Given the description of an element on the screen output the (x, y) to click on. 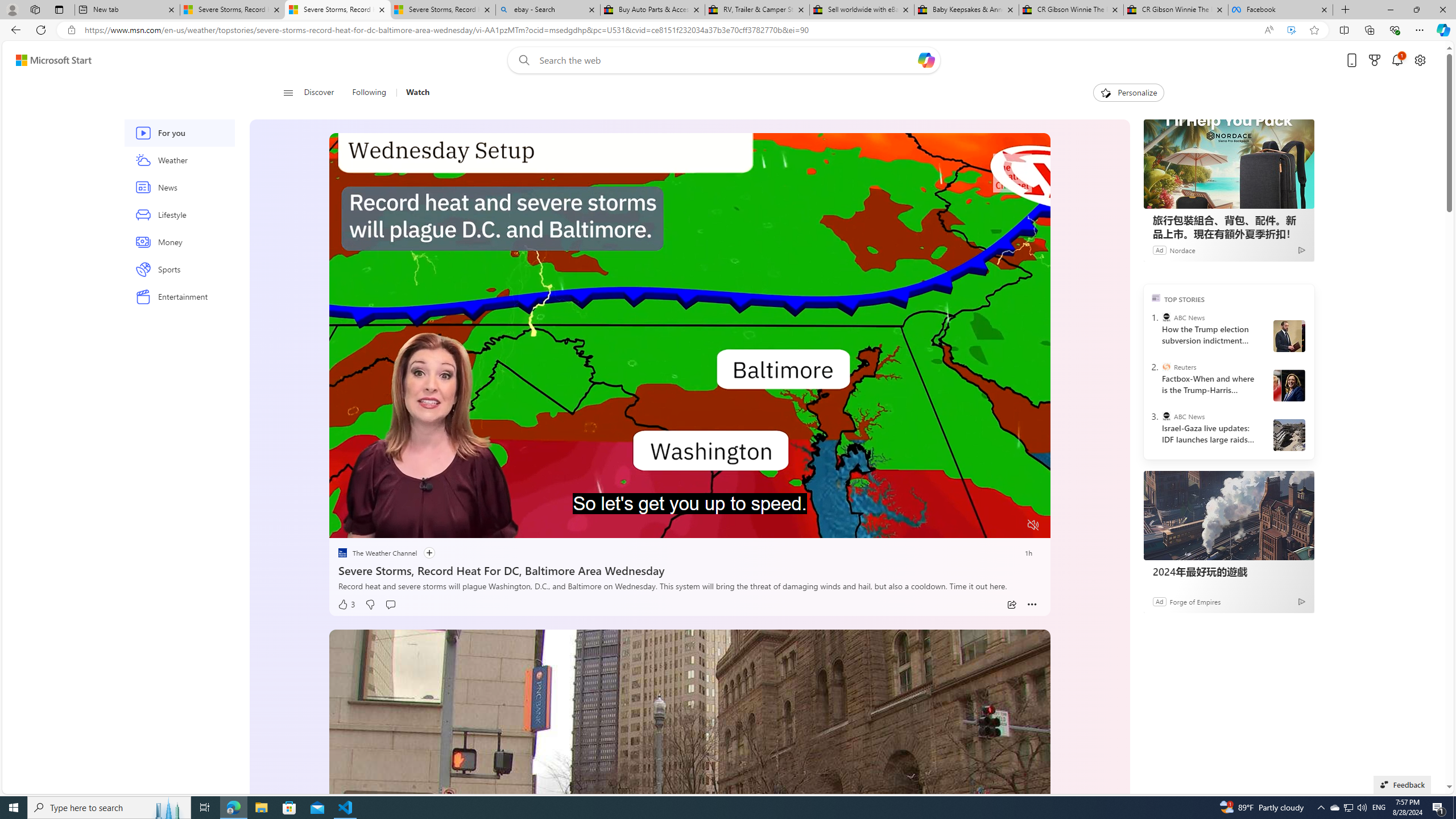
Skip to footer (46, 59)
Class: button-glyph (287, 92)
Severe Storms, Record Heat For DC, Baltimore Area Wednesday (689, 568)
Personalize (1128, 92)
3 Like (345, 604)
Captions (988, 525)
Follow (423, 553)
Web search (520, 60)
